Given the description of an element on the screen output the (x, y) to click on. 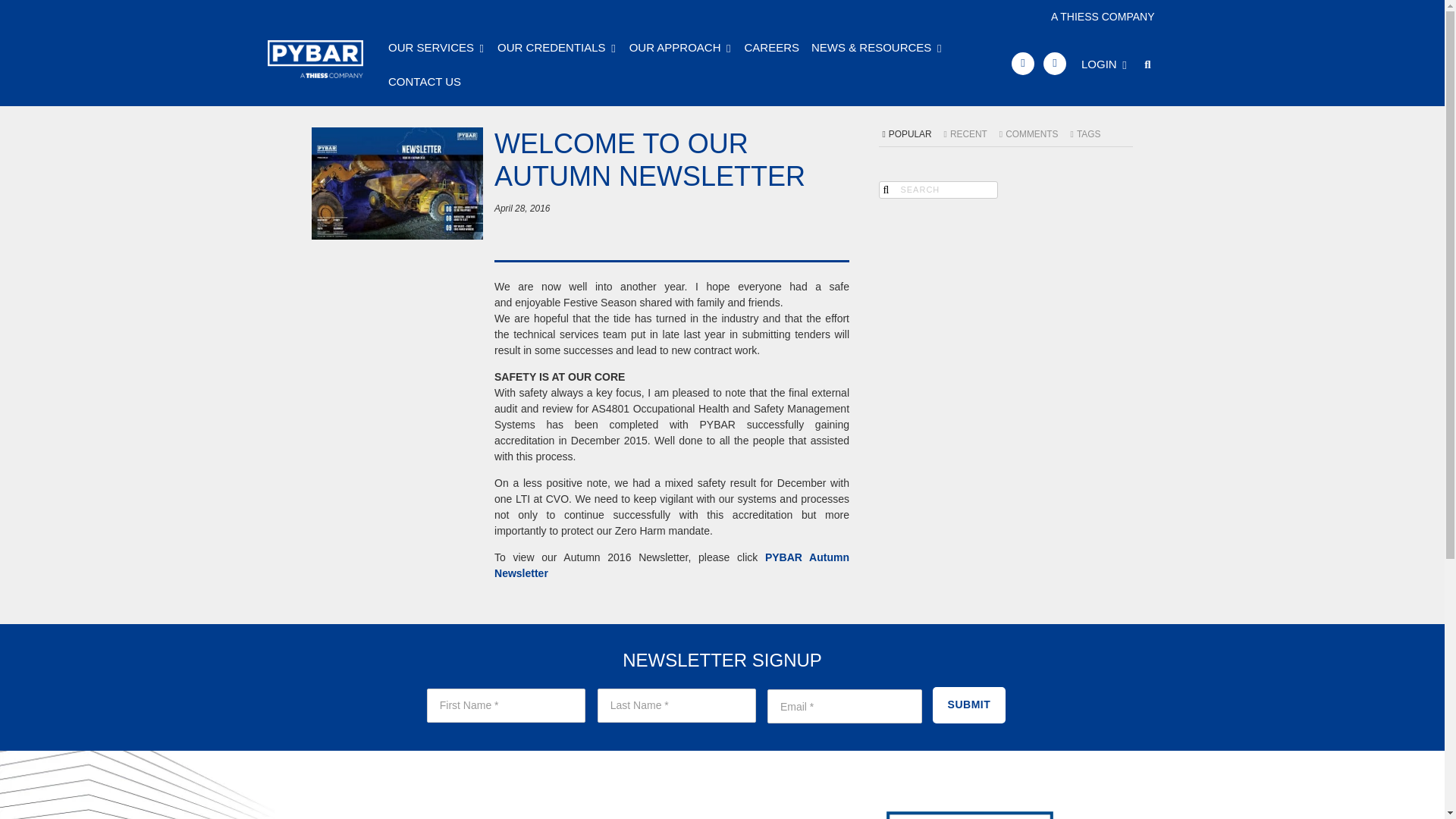
Submit (969, 705)
